Given the description of an element on the screen output the (x, y) to click on. 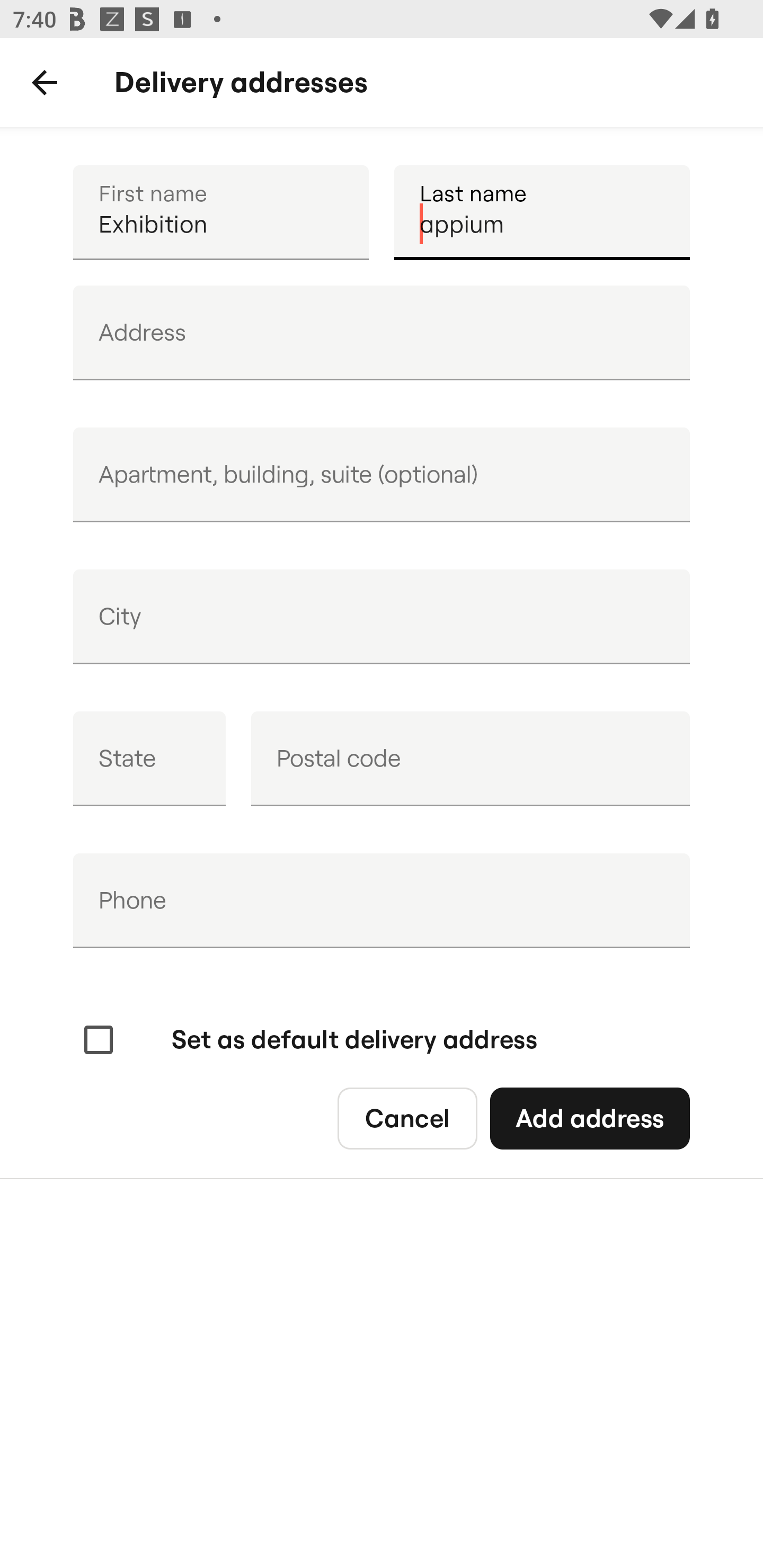
Back (44, 82)
Exhibition (220, 212)
appium (541, 212)
Address (381, 333)
Apartment, building, suite (optional) (381, 475)
City (381, 616)
State (149, 758)
Postal code (470, 758)
Phone (381, 900)
Set as default delivery address (308, 1039)
Cancel (407, 1118)
Add address (589, 1118)
